Given the description of an element on the screen output the (x, y) to click on. 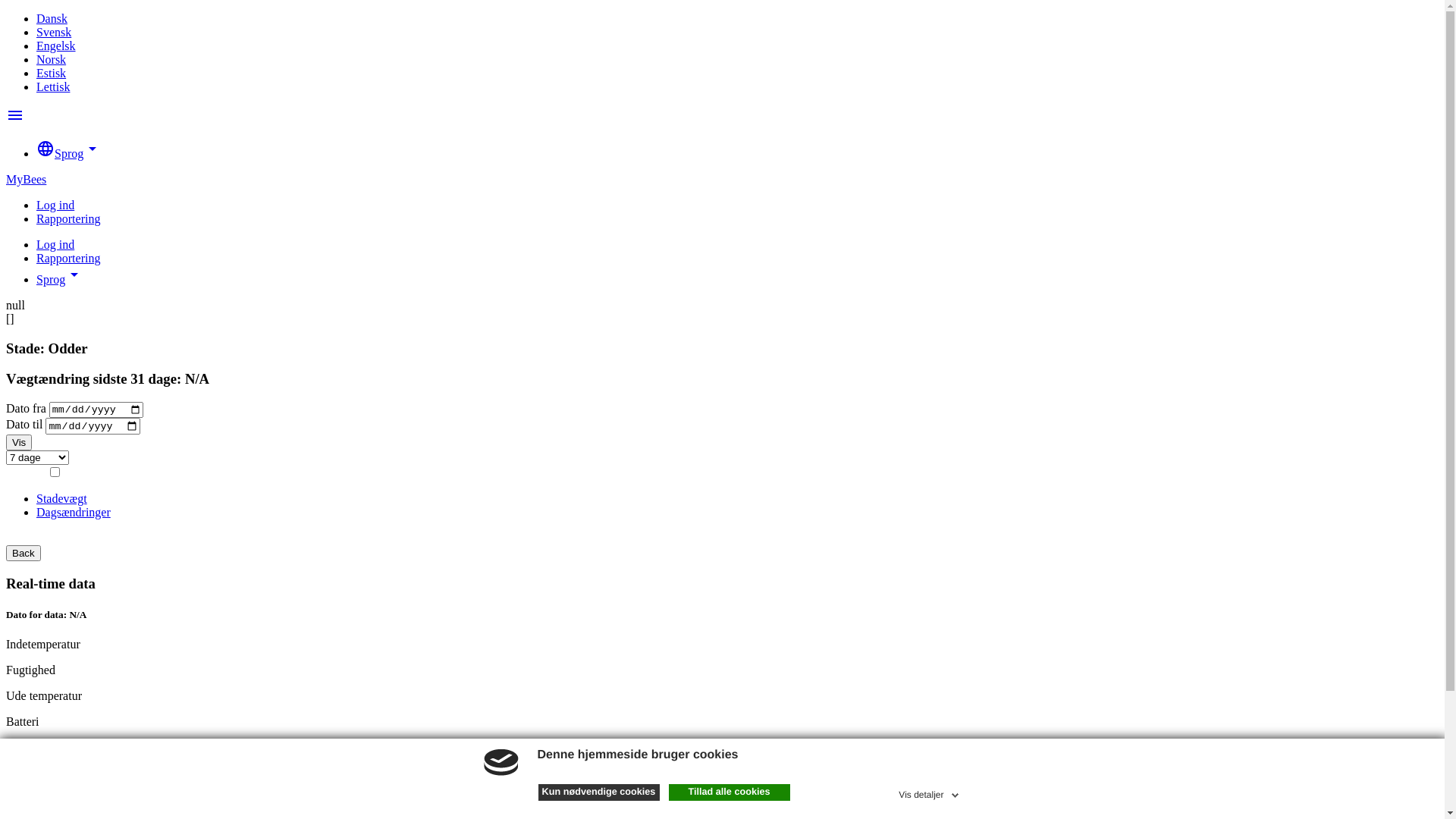
Estisk Element type: text (50, 72)
Norsk Element type: text (50, 59)
Lettisk Element type: text (52, 86)
Engelsk Element type: text (55, 45)
Dansk Element type: text (51, 18)
menu Element type: text (15, 119)
Rapportering Element type: text (68, 218)
Tillad alle cookies Element type: text (729, 792)
Sprogarrow_drop_down Element type: text (59, 279)
Log ind Element type: text (55, 244)
MyBees Element type: text (26, 178)
languageSprogarrow_drop_down Element type: text (68, 153)
Svensk Element type: text (53, 31)
Log ind Element type: text (55, 204)
Vis Element type: text (18, 442)
Back Element type: text (23, 553)
Rapportering Element type: text (68, 257)
Vis detaljer Element type: text (929, 792)
Databehandling Element type: text (74, 806)
